Given the description of an element on the screen output the (x, y) to click on. 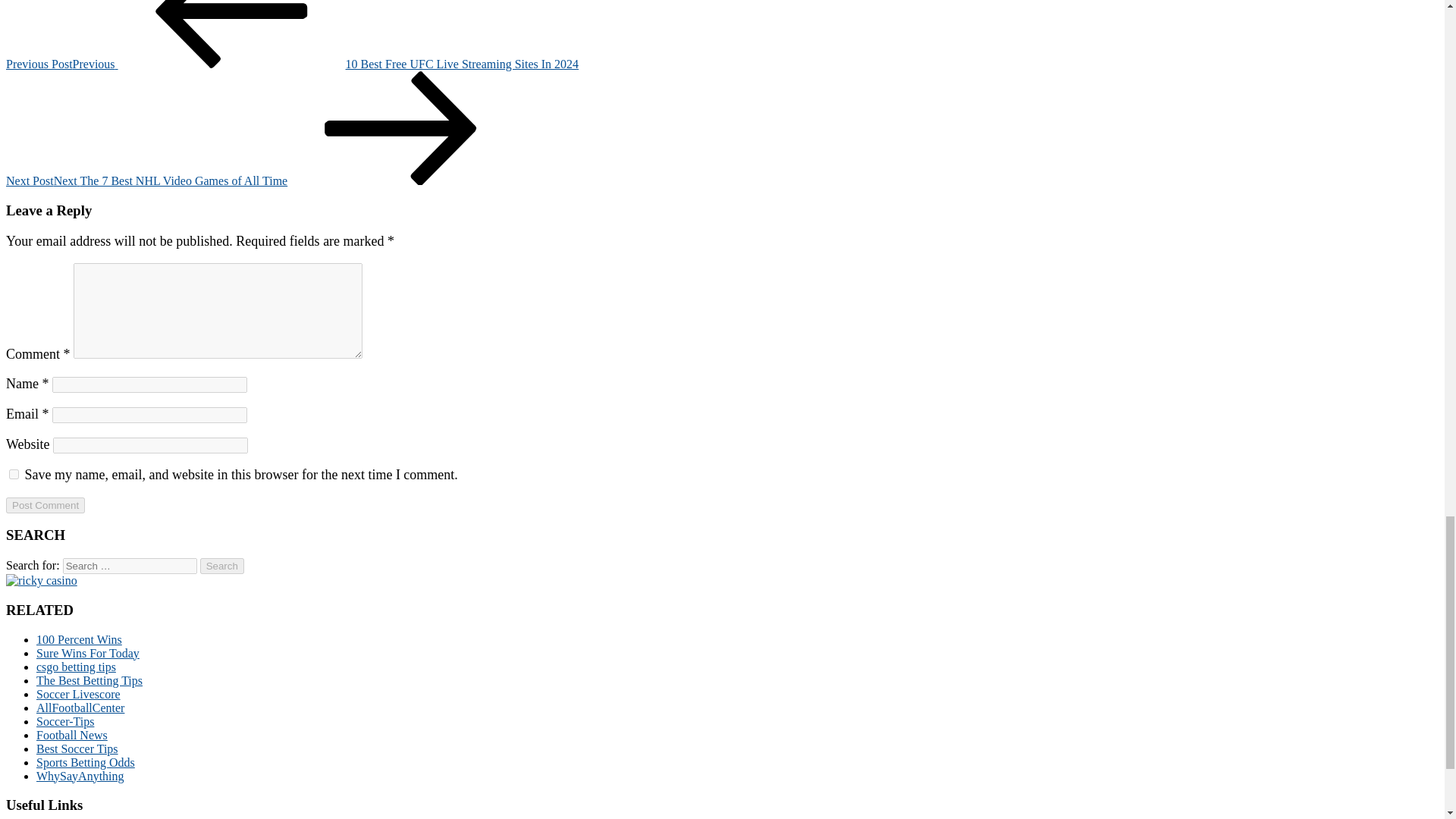
Football News (71, 735)
Sure Wins For Today (87, 653)
Next PostNext The 7 Best NHL Video Games of All Time (260, 180)
WhySayAnything (79, 775)
100 Percent Wins (79, 639)
Post Comment (44, 505)
The Best Betting Tips (89, 680)
Sports Betting Odds (85, 762)
Search (222, 565)
